Given the description of an element on the screen output the (x, y) to click on. 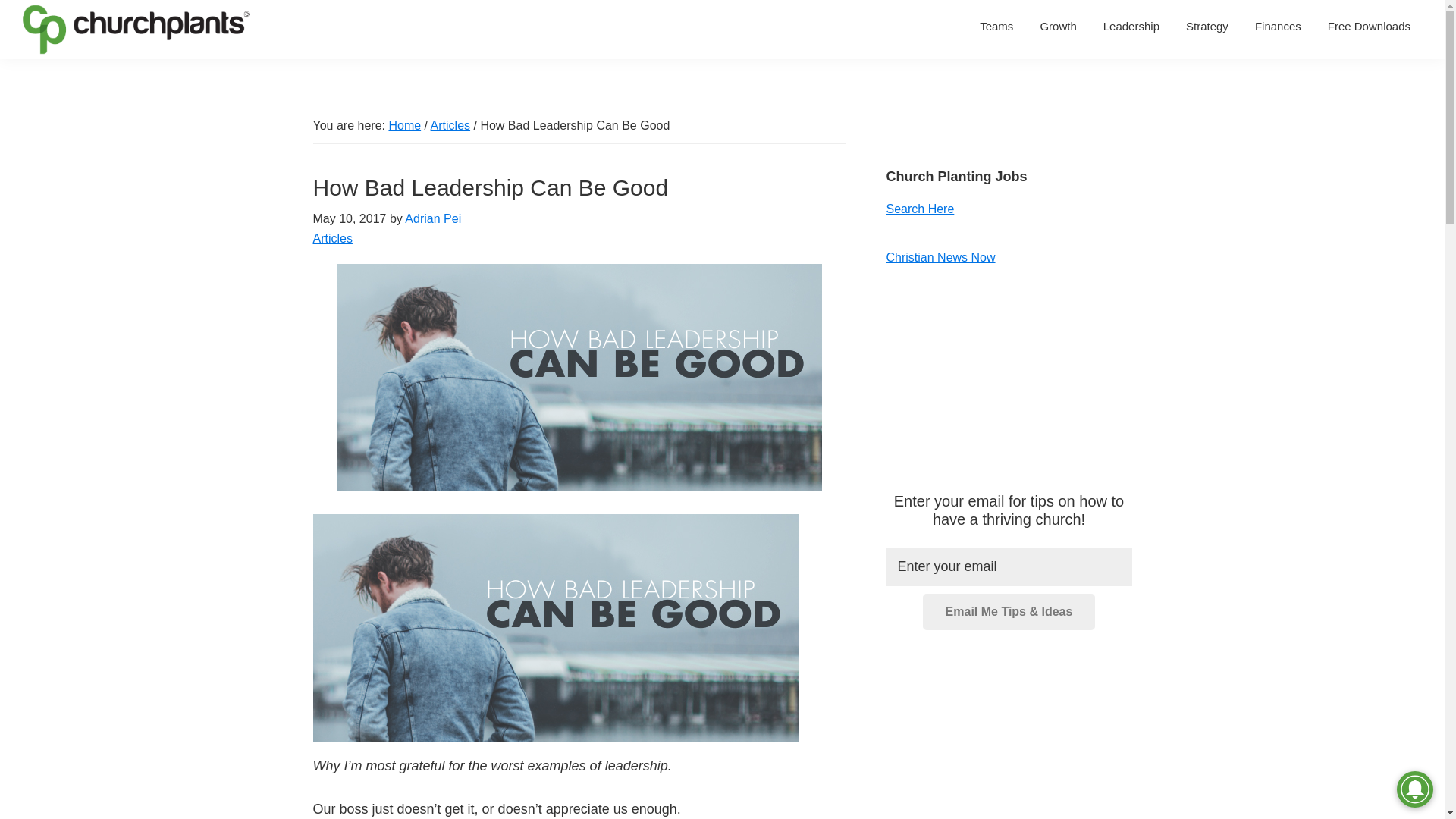
Home (404, 124)
Search Here (919, 208)
Christian News Now (939, 256)
Articles (450, 124)
Church Plant Leadership (1131, 25)
Adrian Pei (432, 218)
Strategy (1207, 25)
Church Plant Strategy (1207, 25)
Leadership (1131, 25)
Christian News Now (939, 256)
Free Downloads (1369, 25)
Articles (332, 237)
Finances (1278, 25)
Church Plant Growth (1057, 25)
